Given the description of an element on the screen output the (x, y) to click on. 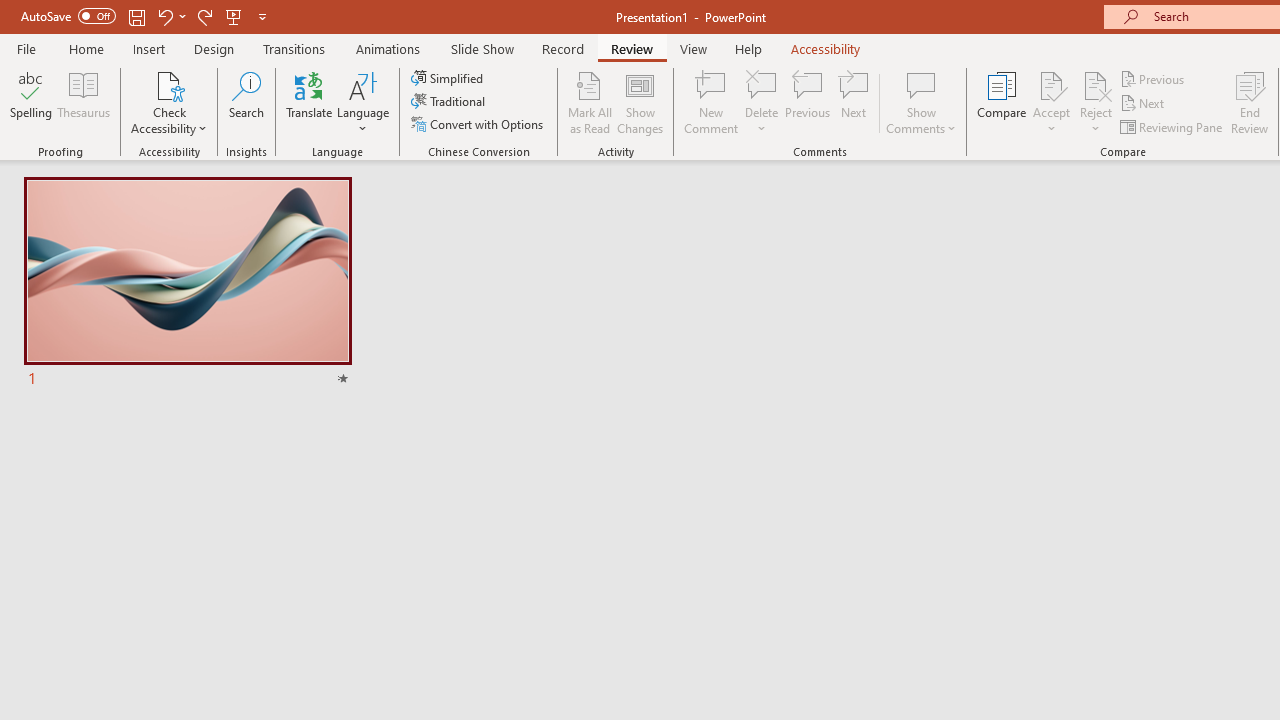
Accept (1051, 102)
Reject (1096, 102)
Convert with Options... (479, 124)
Mark All as Read (589, 102)
Accept Change (1051, 84)
Next (1144, 103)
